Given the description of an element on the screen output the (x, y) to click on. 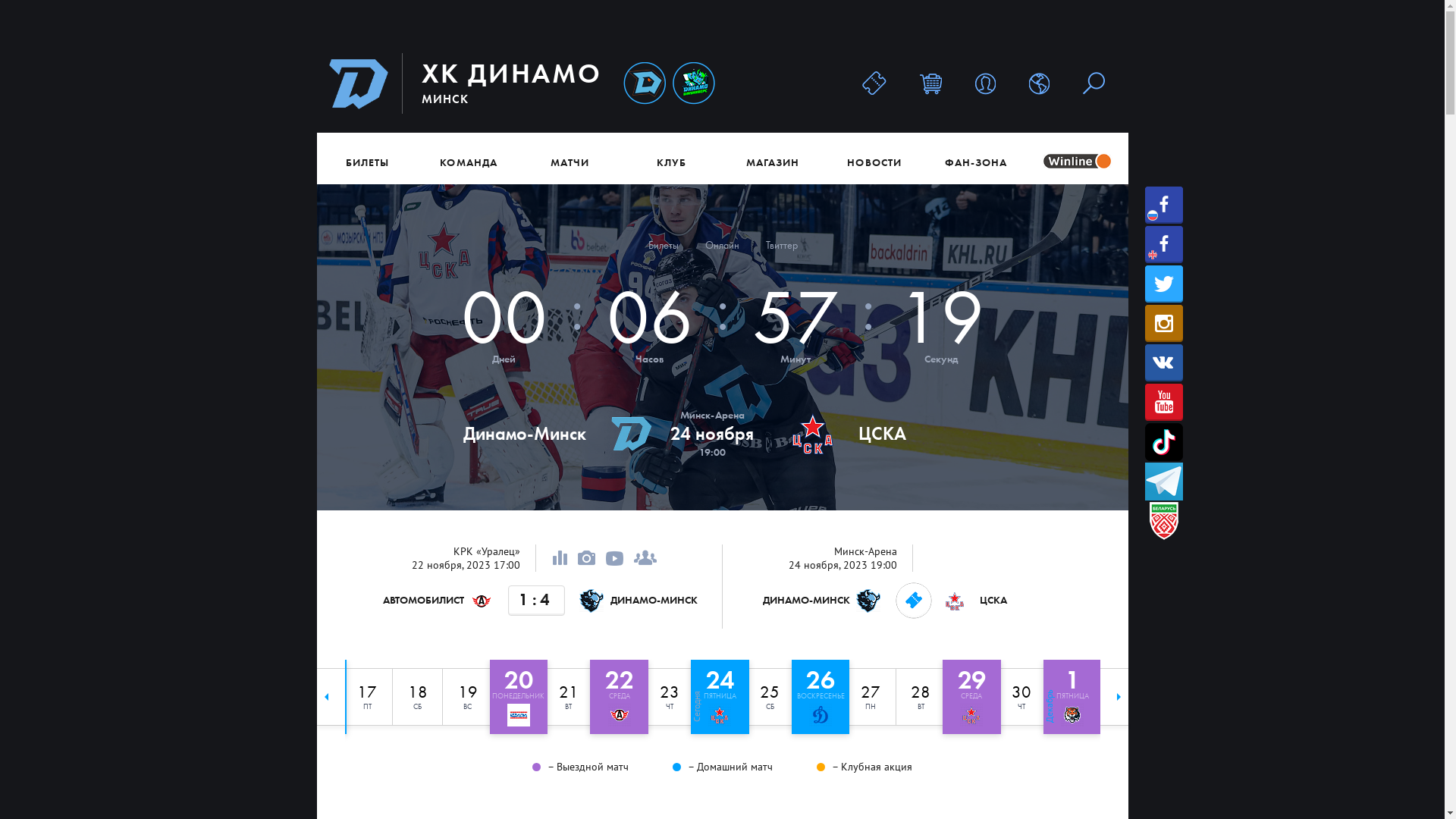
Facebook Element type: text (1164, 204)
Twitter Element type: text (1164, 283)
YouTube Element type: text (1164, 401)
Intagram Element type: text (1164, 323)
Facebook Element type: text (1164, 244)
